Given the description of an element on the screen output the (x, y) to click on. 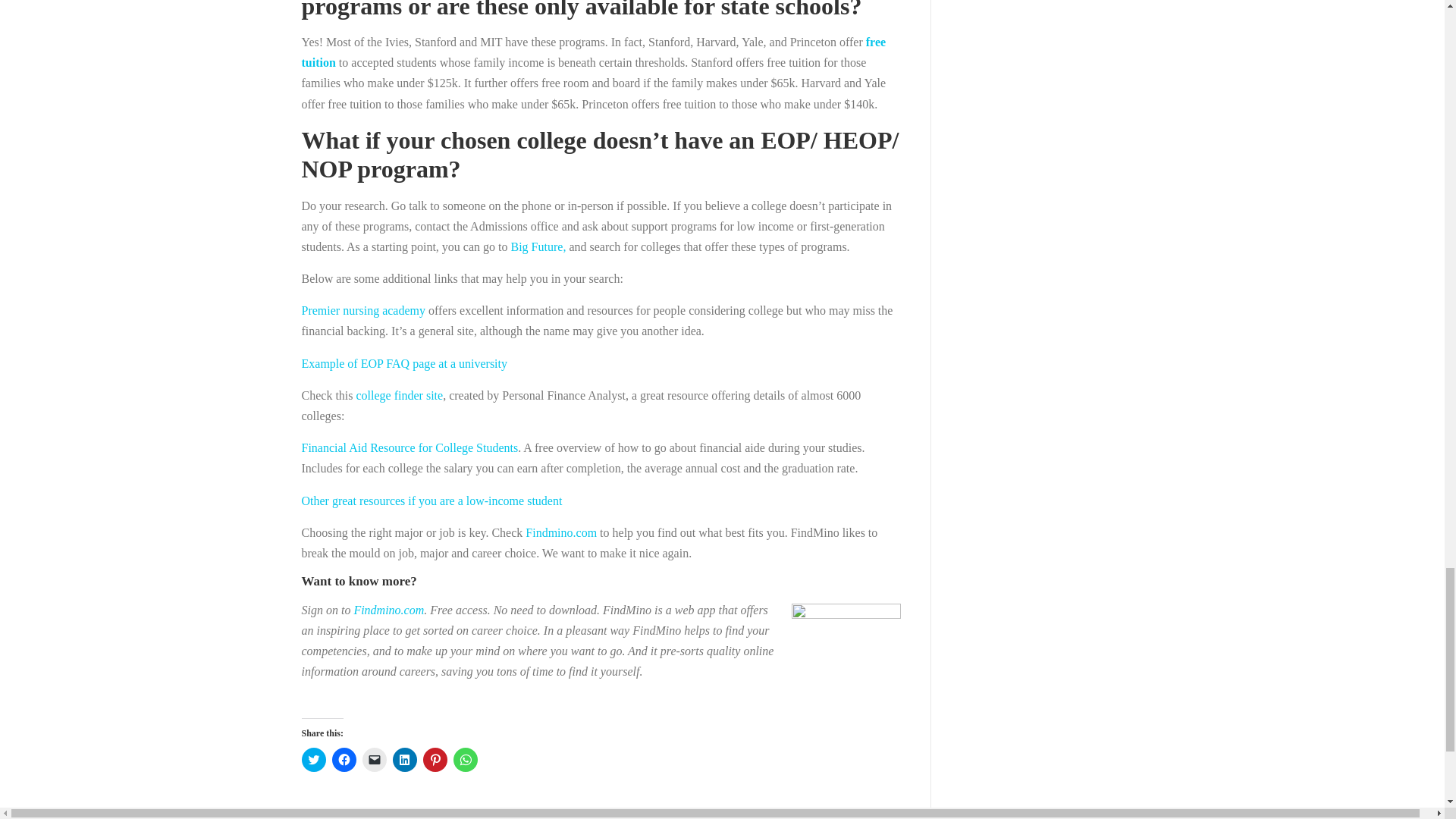
 free tuition (593, 52)
Premier nursing academy (363, 309)
Click to share on Facebook (343, 759)
Click to email a link to a friend (374, 759)
Click to share on WhatsApp (464, 759)
Click to share on LinkedIn (404, 759)
Financial Aid Resource for College Students (409, 447)
college finder site (400, 395)
Example of EOP FAQ page at a university (404, 363)
Click to share on Pinterest (434, 759)
Other great resources if you are a low-income student (431, 500)
Big Future, (538, 246)
Click to share on Twitter (313, 759)
